Given the description of an element on the screen output the (x, y) to click on. 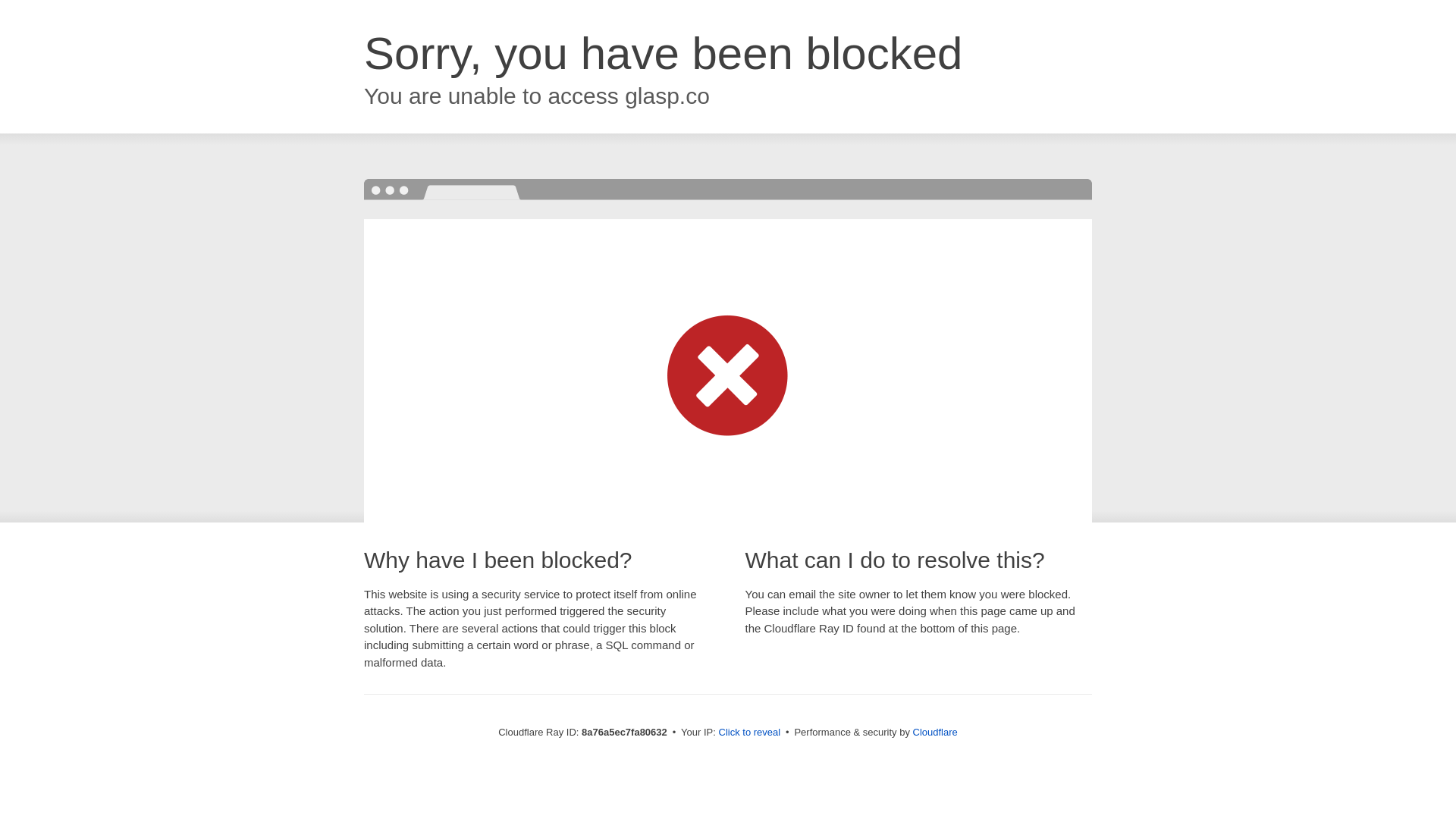
Cloudflare (935, 731)
Click to reveal (749, 732)
